Given the description of an element on the screen output the (x, y) to click on. 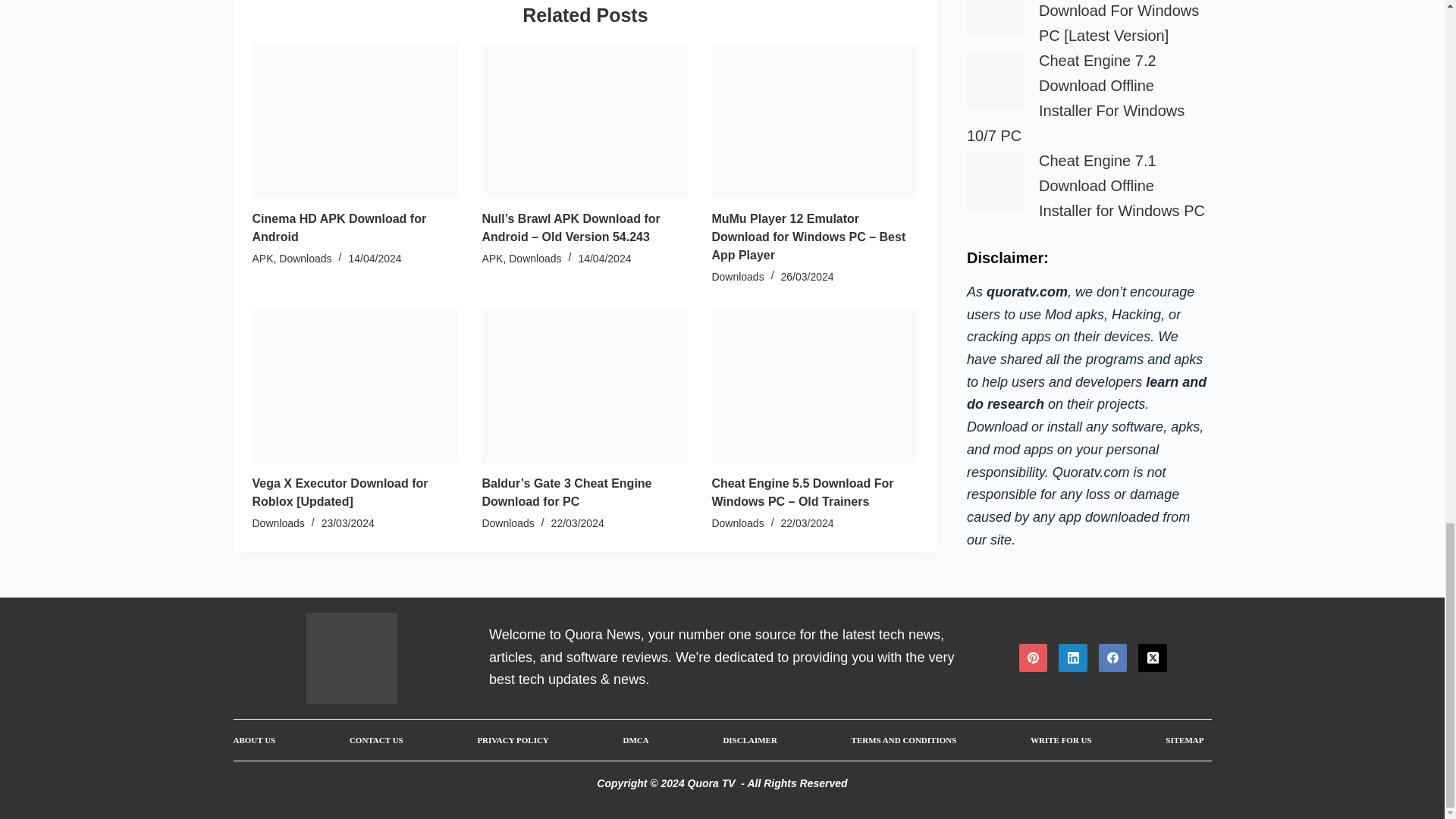
APK (262, 258)
Cinema HD APK Download for Android (338, 227)
Downloads (305, 258)
